Given the description of an element on the screen output the (x, y) to click on. 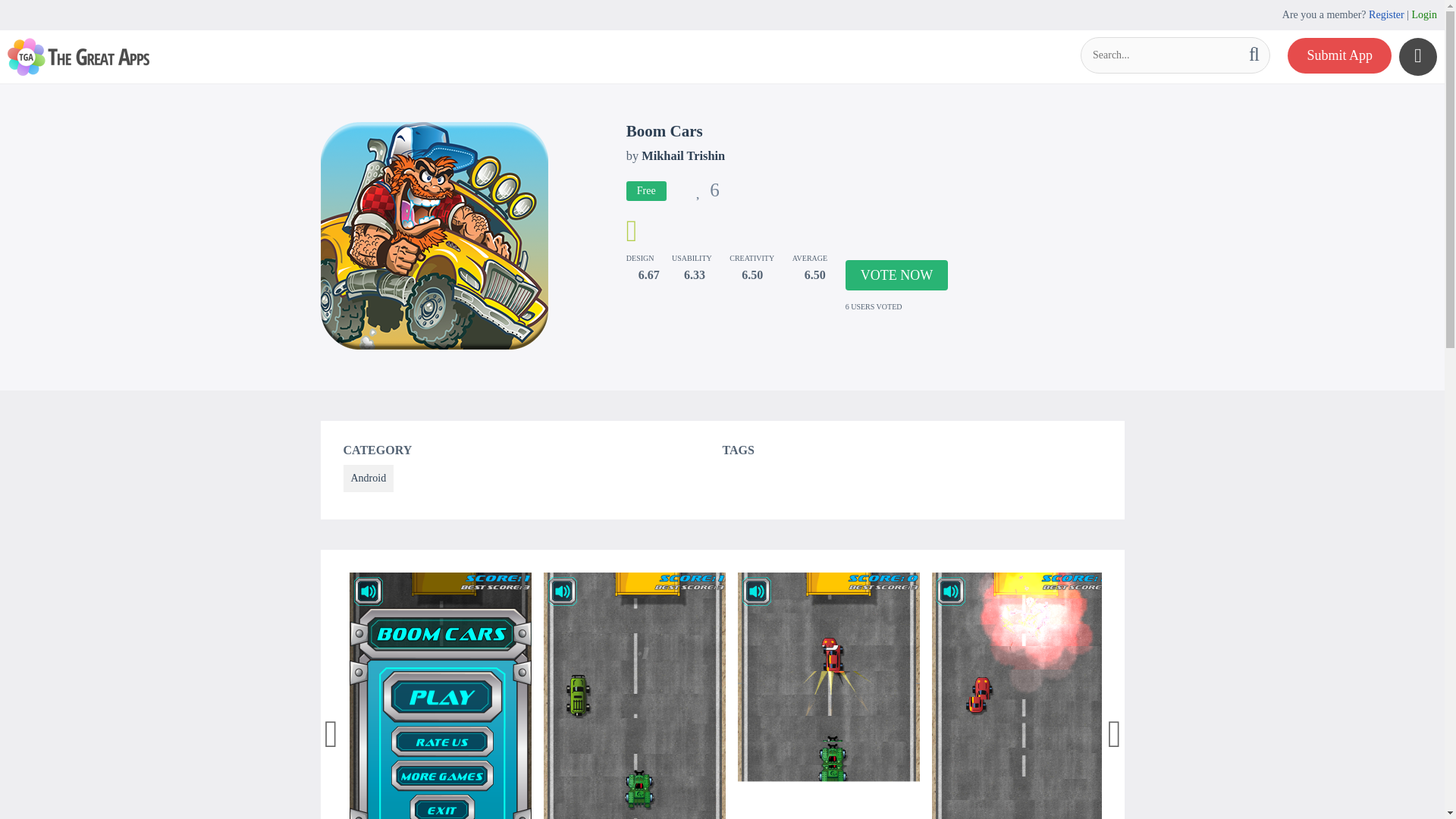
Register (1386, 14)
Favourite (707, 193)
Submit App (1339, 55)
The Great Apps (78, 56)
Login (1424, 14)
